Given the description of an element on the screen output the (x, y) to click on. 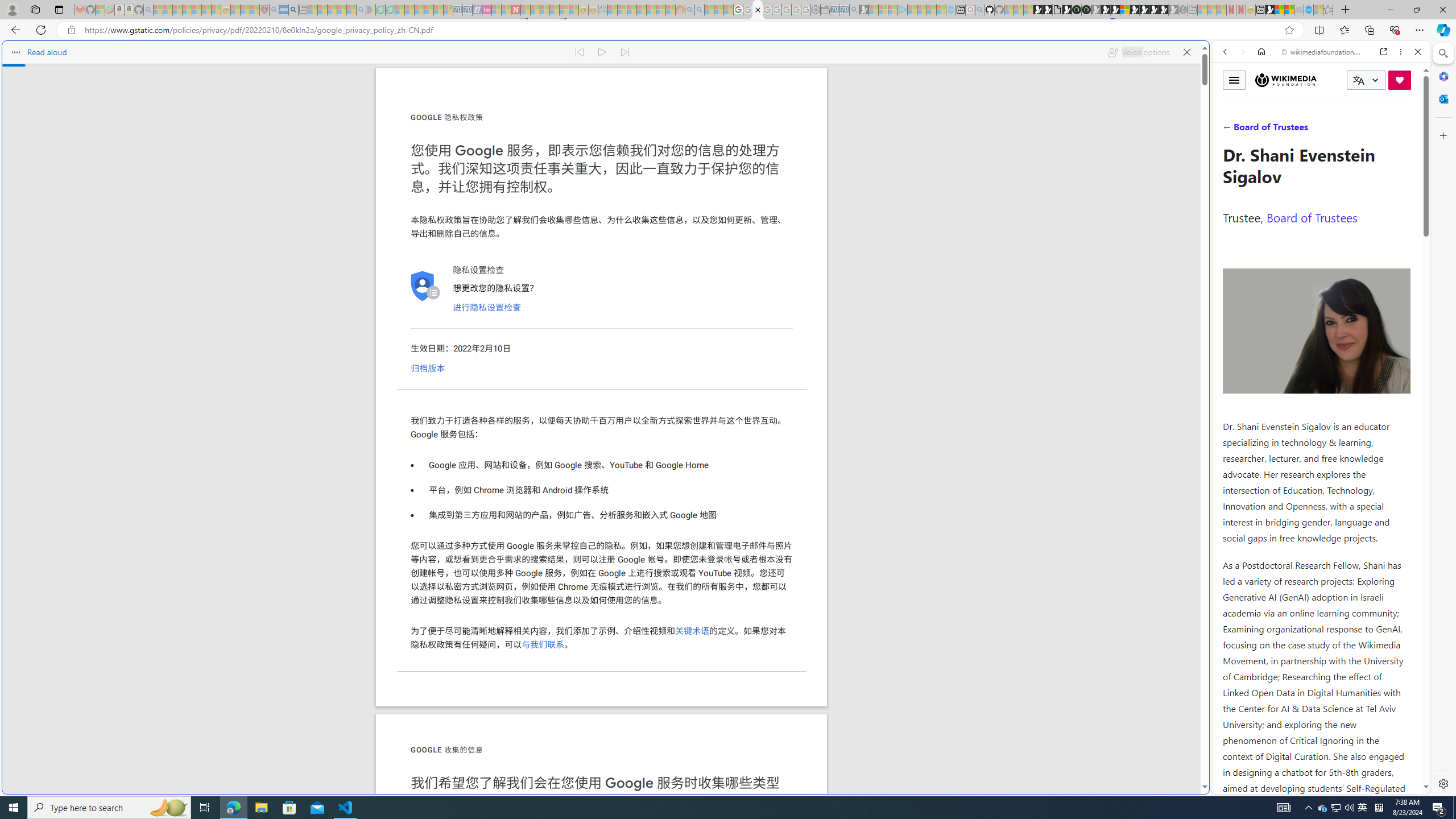
WEB   (1230, 130)
Shani Evenstein (1316, 330)
Recipes - MSN - Sleeping (234, 9)
Settings - Sleeping (815, 9)
Back (1225, 51)
New tab - Sleeping (1192, 9)
